Given the description of an element on the screen output the (x, y) to click on. 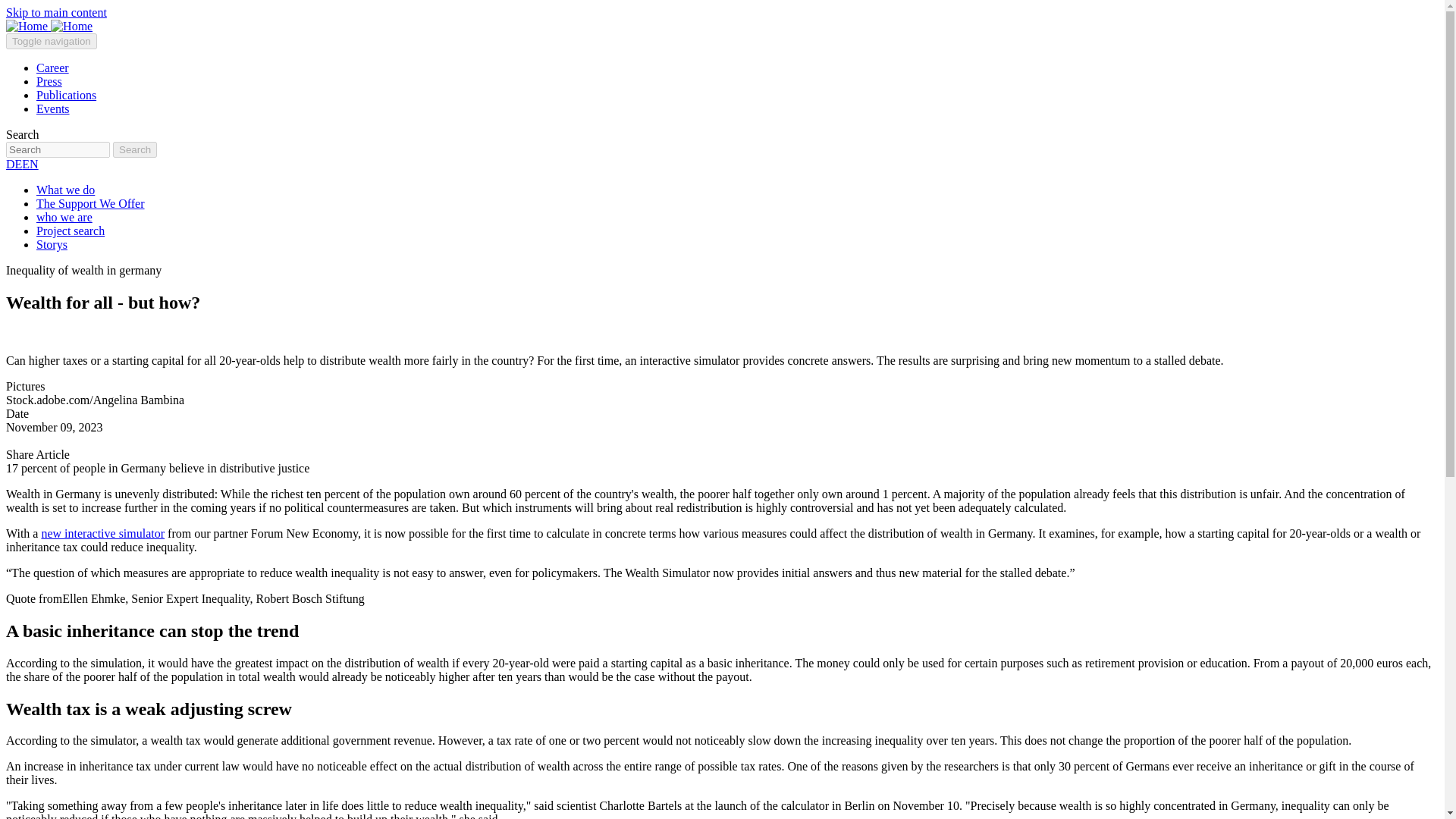
Toggle navigation (51, 41)
who we are (64, 216)
new interactive simulator (102, 533)
Career (52, 67)
Events (52, 108)
Press (49, 81)
English (29, 164)
Search (135, 149)
DE (13, 164)
EN (29, 164)
